Given the description of an element on the screen output the (x, y) to click on. 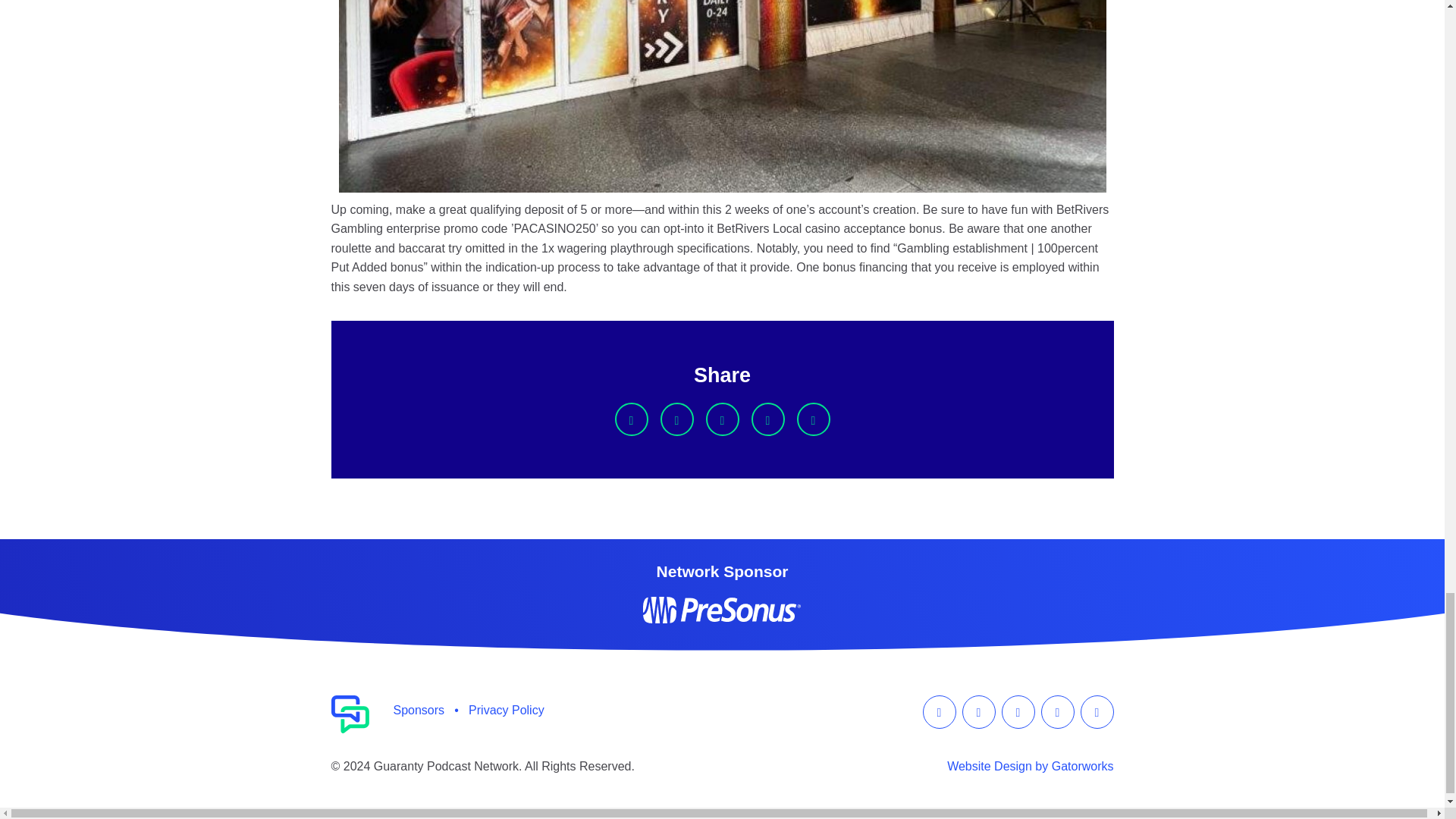
Text Message (767, 418)
Facebook (938, 711)
Website Design by Gatorworks (1030, 766)
Twitter (676, 418)
Spotify (1057, 711)
Apple Podcasts (1017, 711)
Privacy Policy (506, 709)
Sponsors (418, 709)
Email (812, 418)
Facebook (630, 418)
Twitter (1096, 711)
Instagram (977, 711)
LinkedIn (721, 418)
